Given the description of an element on the screen output the (x, y) to click on. 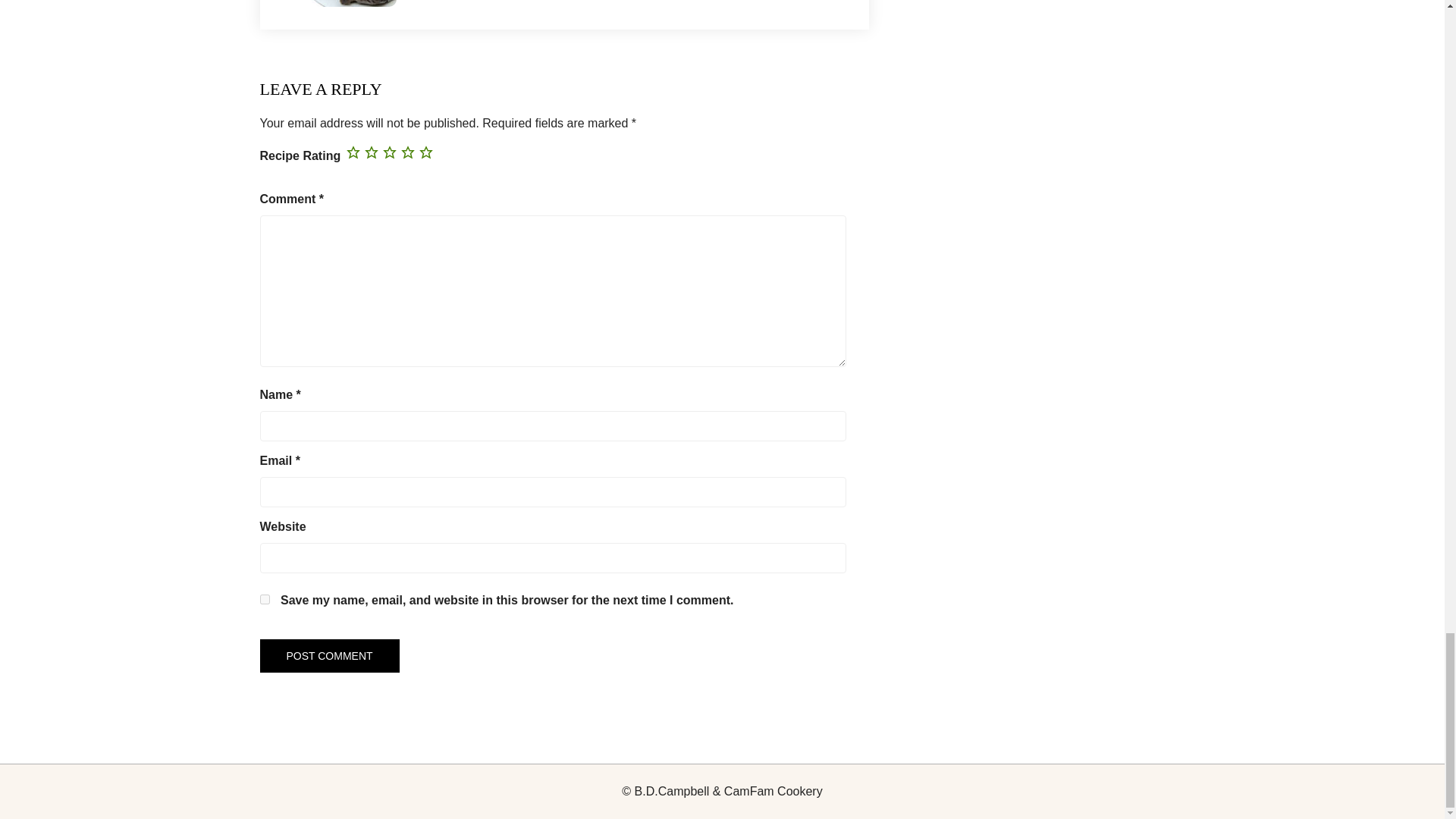
Post Comment (328, 655)
yes (264, 599)
